Given the description of an element on the screen output the (x, y) to click on. 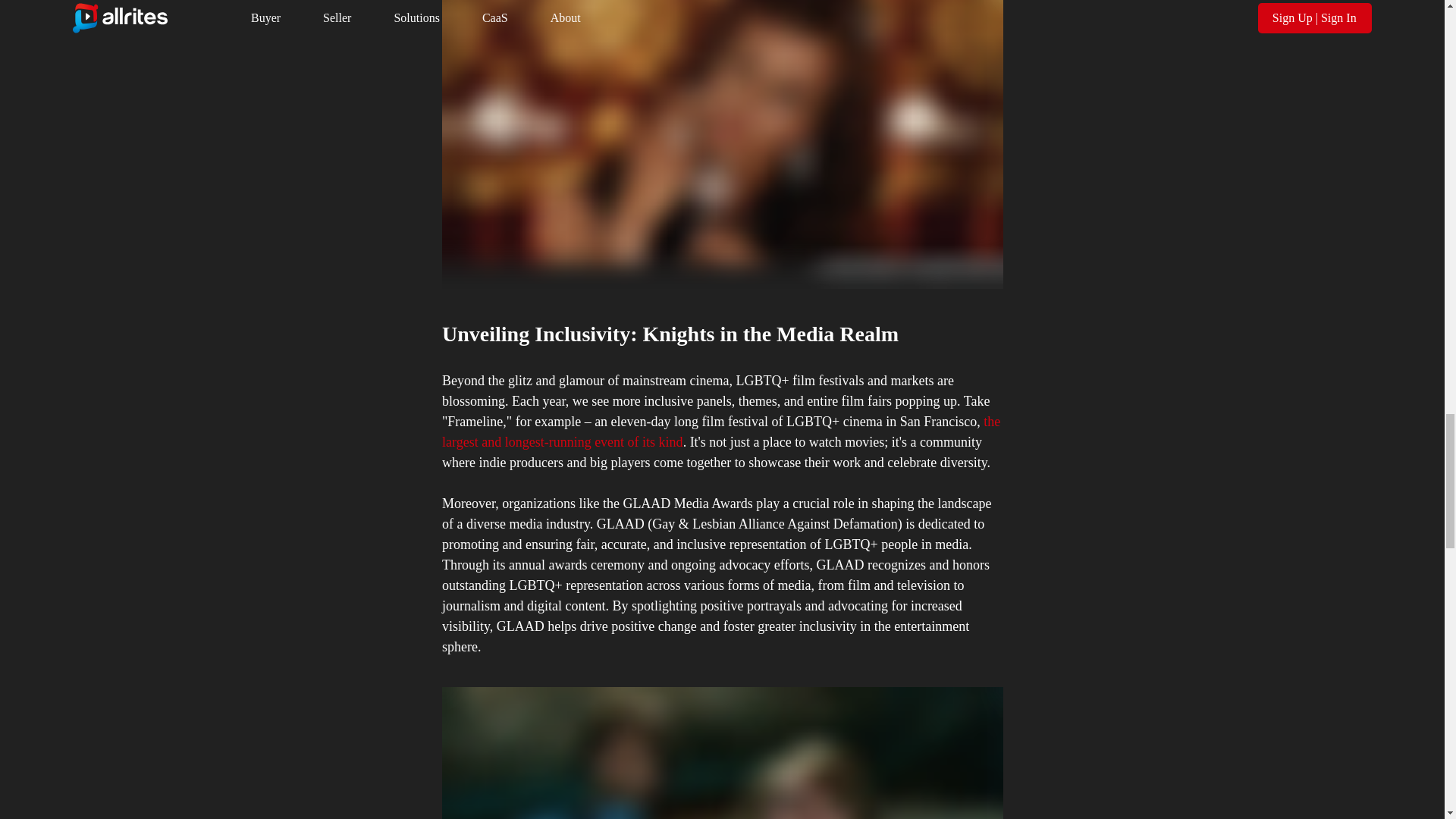
the largest and longest-running event of its kind (722, 431)
